Given the description of an element on the screen output the (x, y) to click on. 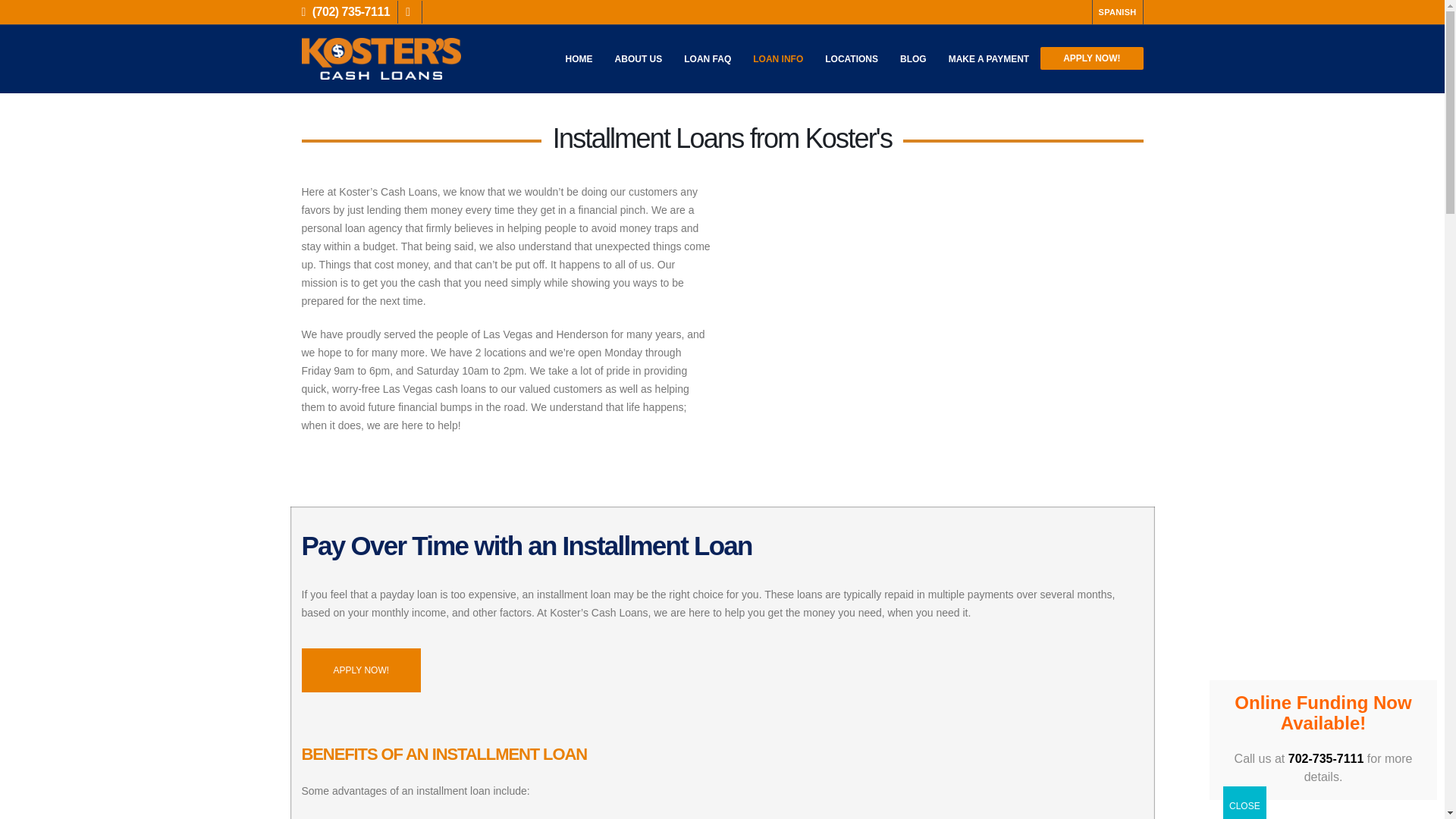
CLOSE (1244, 802)
SPANISH (1117, 12)
LOAN FAQ (706, 59)
Koster's Cash Loans -  (381, 58)
Kosters Cash Loans (937, 297)
LOCATIONS (850, 59)
APPLY NOW! (361, 670)
ABOUT US (638, 59)
LOAN INFO (777, 59)
APPLY NOW! (1091, 57)
MAKE A PAYMENT (988, 59)
